Given the description of an element on the screen output the (x, y) to click on. 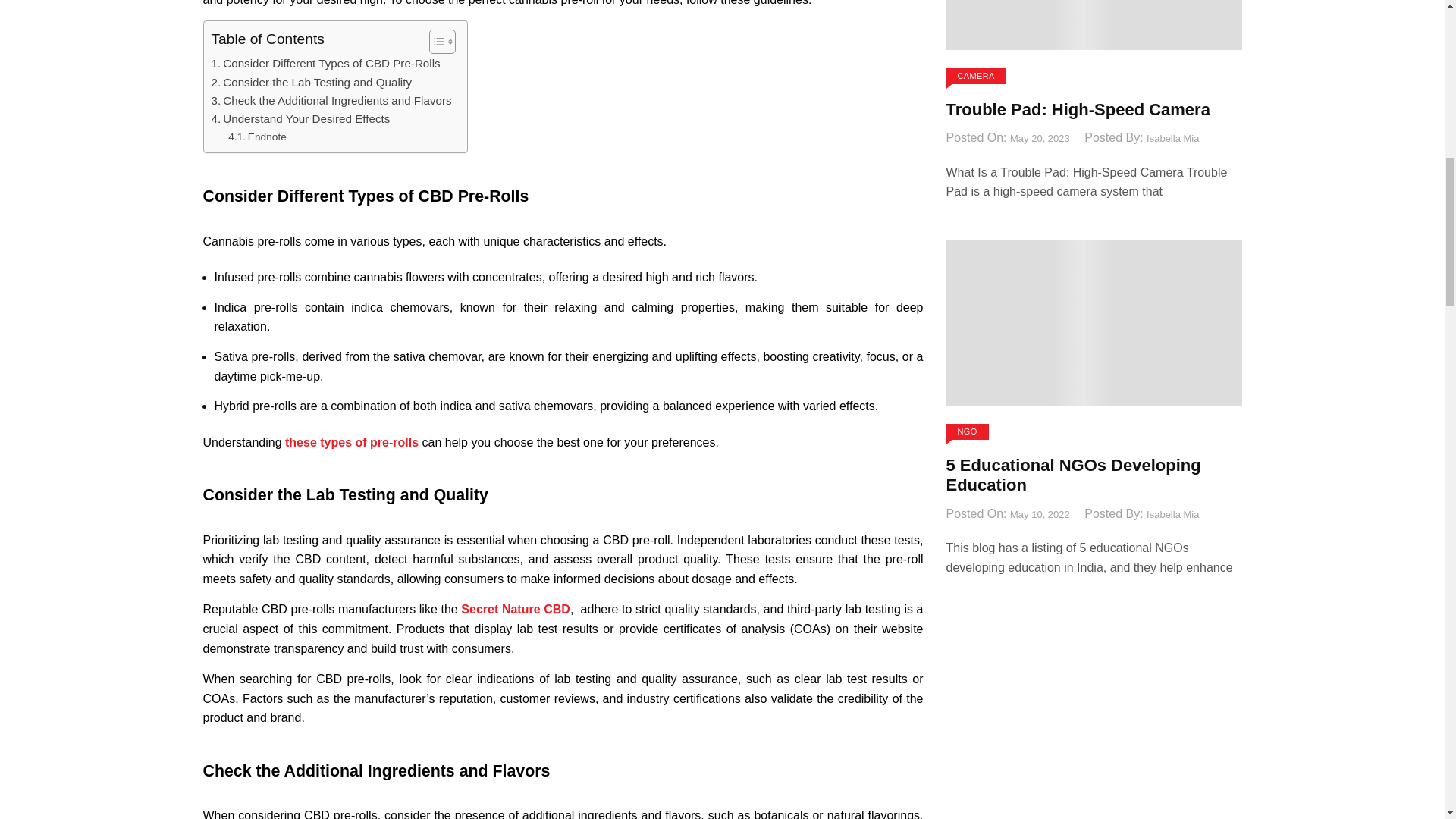
Understand Your Desired Effects (300, 118)
Endnote (257, 136)
Check the Additional Ingredients and Flavors (331, 100)
Consider Different Types of CBD Pre-Rolls (325, 63)
Consider the Lab Testing and Quality (311, 82)
